Given the description of an element on the screen output the (x, y) to click on. 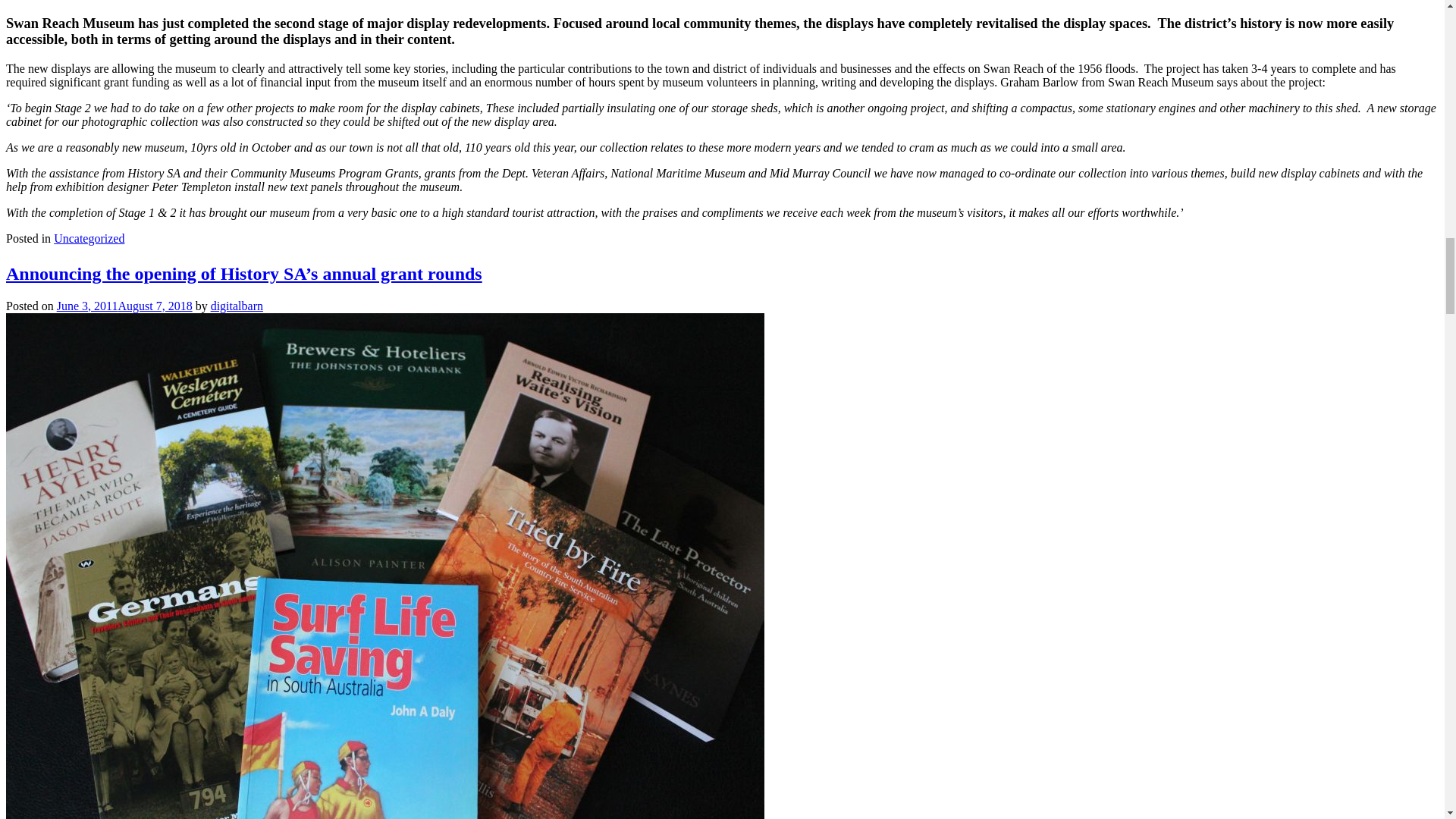
digitalbarn (237, 305)
June 3, 2011August 7, 2018 (124, 305)
Uncategorized (88, 237)
